Given the description of an element on the screen output the (x, y) to click on. 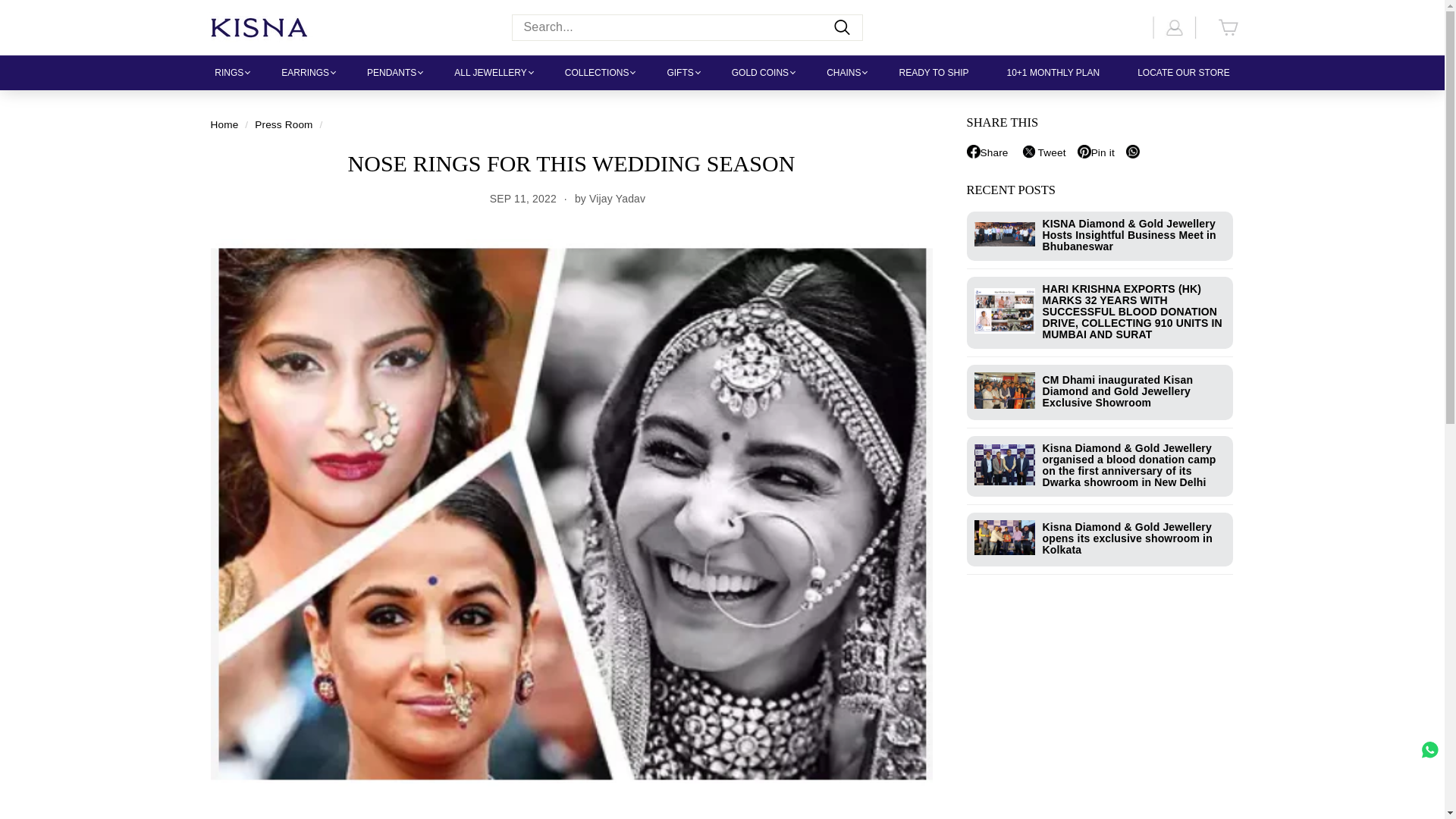
Back to the frontpage (224, 124)
Share on Facebook (992, 152)
Pin on Pinterest (1101, 152)
Tweet on Twitter (1048, 152)
RINGS (232, 72)
EARRINGS (309, 72)
